Given the description of an element on the screen output the (x, y) to click on. 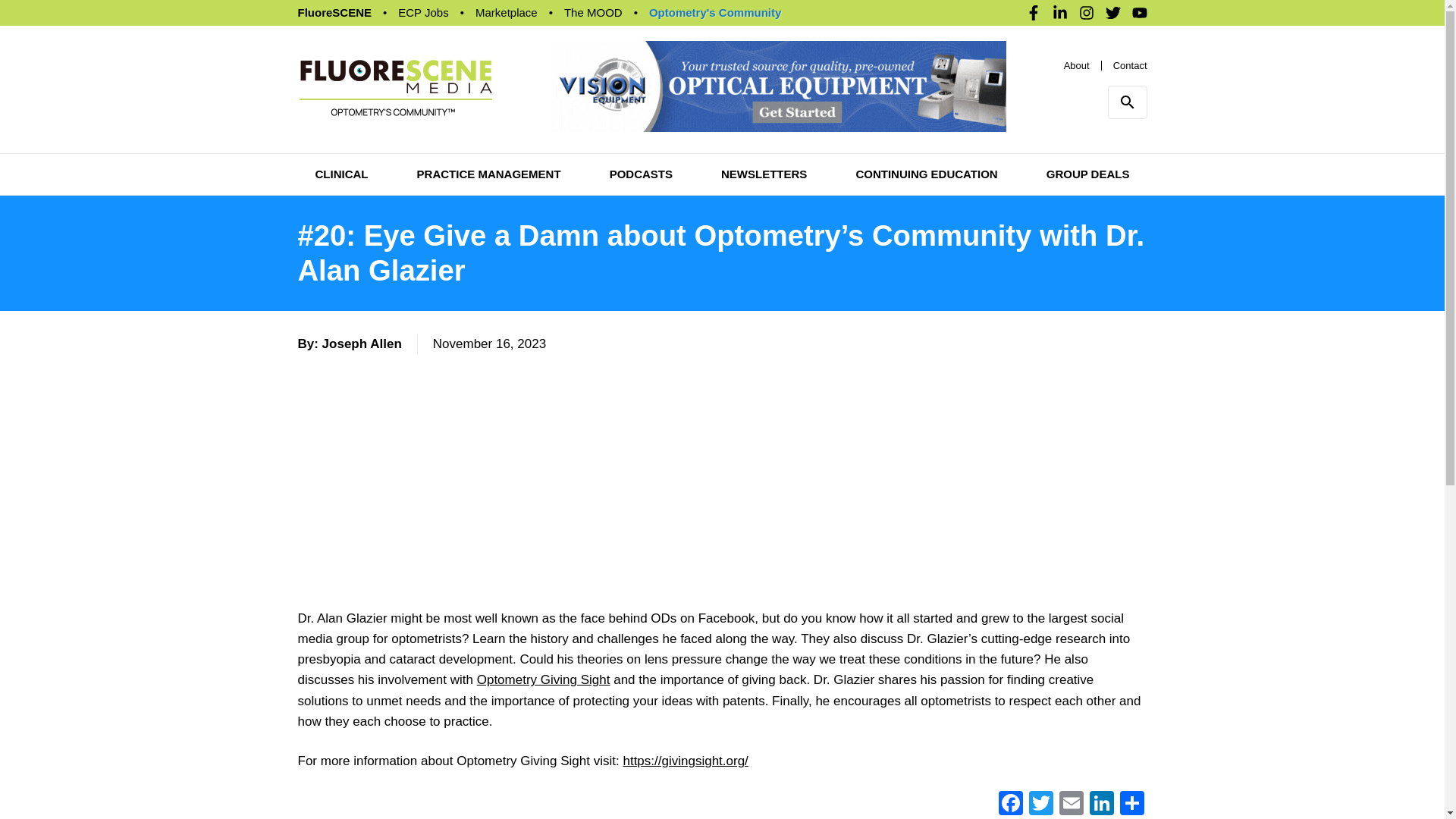
CONTINUING EDUCATION (926, 173)
Email (1070, 805)
Contact (1130, 64)
Optometry Giving Sight (543, 679)
ECP Jobs (422, 11)
GROUP DEALS (1088, 173)
Share (1131, 805)
Twitter (1040, 805)
Facebook (1009, 805)
PODCASTS (641, 173)
Email (1070, 805)
Optometry's Community (714, 11)
Facebook (1009, 805)
PRACTICE MANAGEMENT (488, 173)
NEWSLETTERS (763, 173)
